Given the description of an element on the screen output the (x, y) to click on. 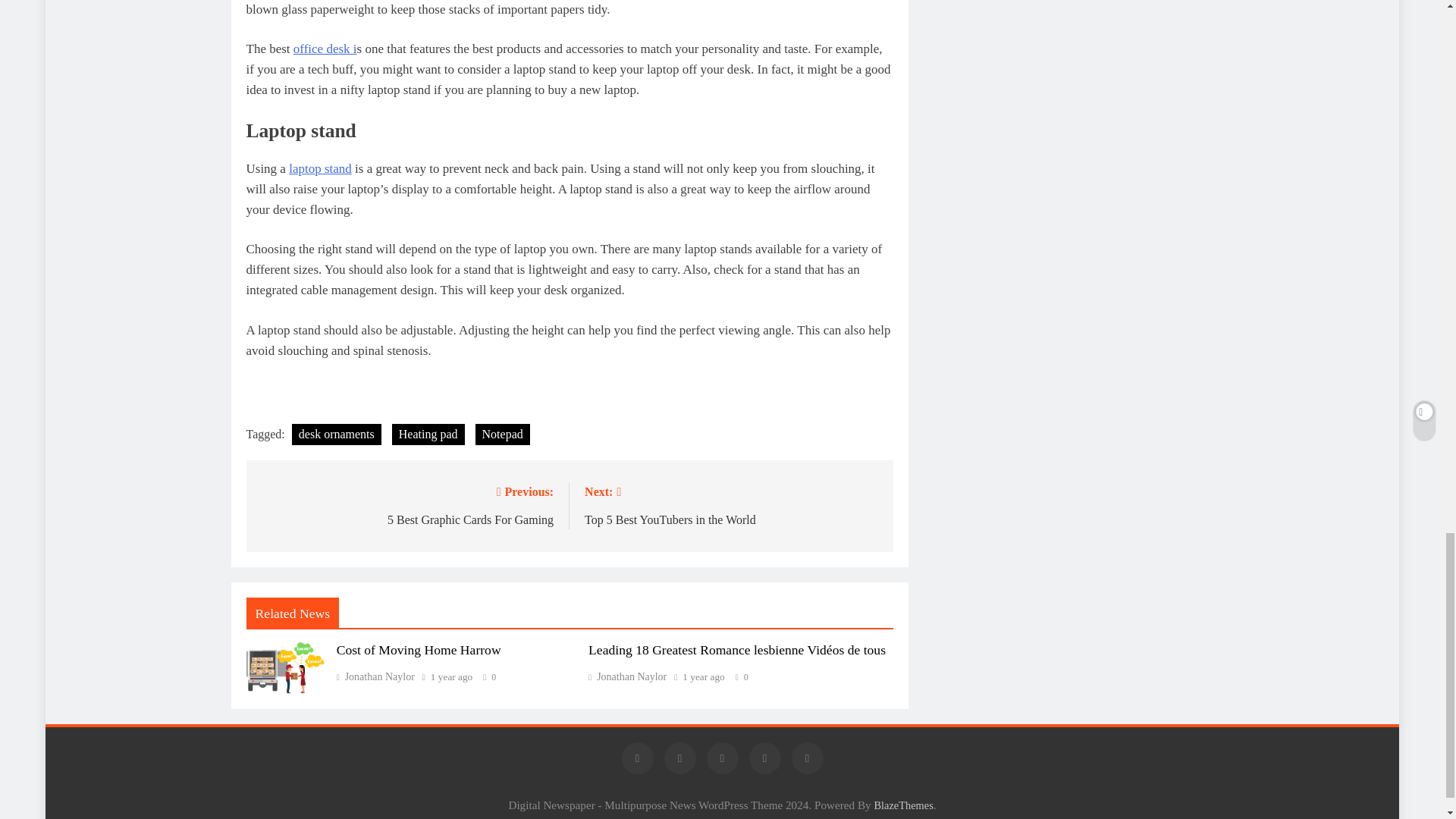
Jonathan Naylor (375, 676)
Jonathan Naylor (627, 676)
laptop stand (320, 168)
desk ornaments (336, 434)
1 year ago (731, 504)
Cost of Moving Home Harrow (450, 676)
Notepad (418, 649)
Heating pad (406, 504)
